Given the description of an element on the screen output the (x, y) to click on. 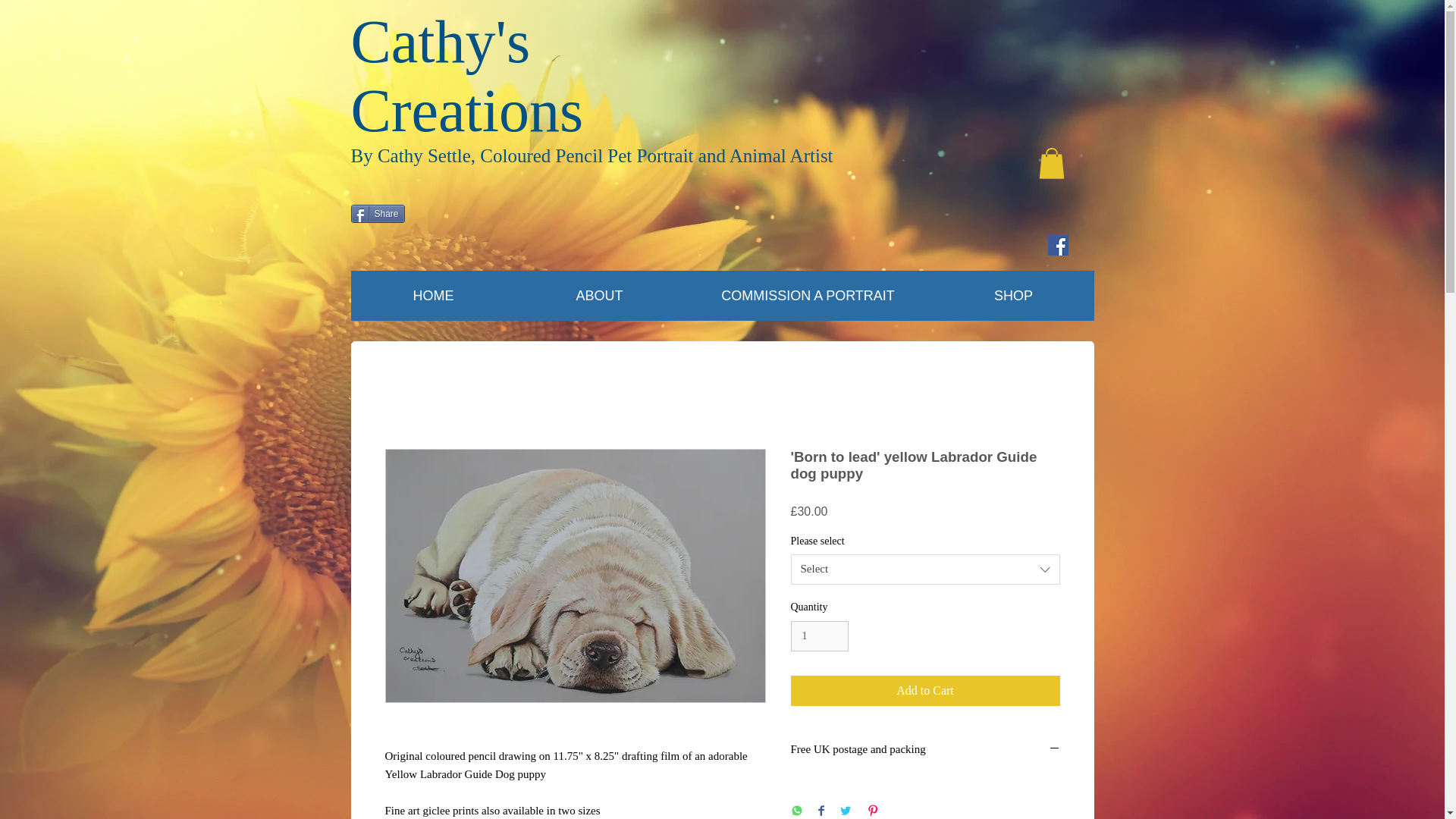
1 (818, 635)
ABOUT (598, 296)
Facebook Like (379, 234)
Share (377, 213)
Add to Cart (924, 690)
Select (924, 569)
SHOP (1013, 296)
COMMISSION A PORTRAIT (807, 296)
Free UK postage and packing (924, 750)
Share (377, 213)
